Given the description of an element on the screen output the (x, y) to click on. 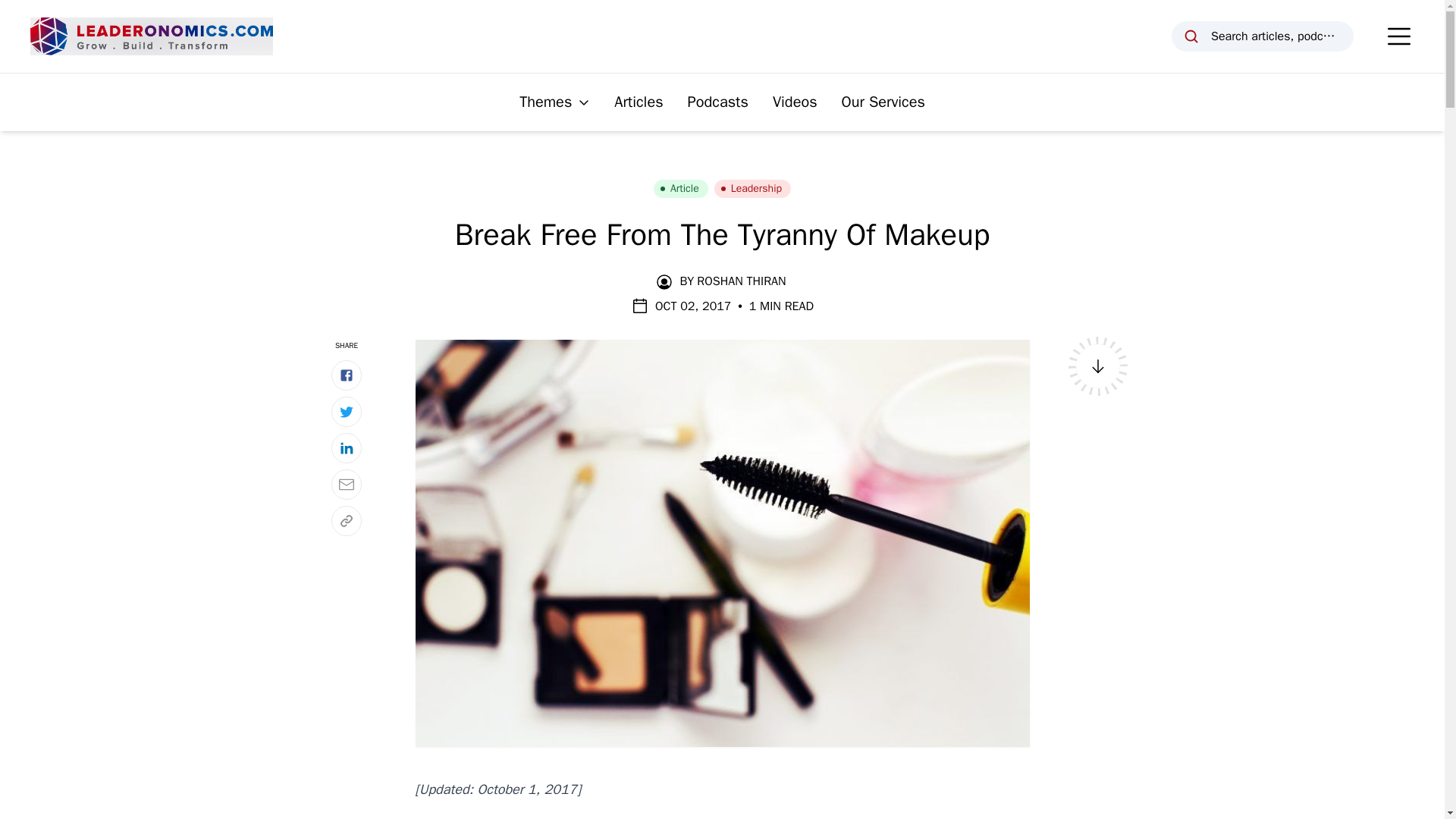
ROSHAN THIRAN (741, 280)
Open Sidebar Menu (1398, 36)
Search articles, podcasts, videos, resources, and authors. (1263, 36)
Our Services (882, 102)
Videos (794, 102)
Articles (638, 102)
Leadership (752, 188)
Themes (554, 102)
Podcasts (717, 102)
Article (680, 188)
